Given the description of an element on the screen output the (x, y) to click on. 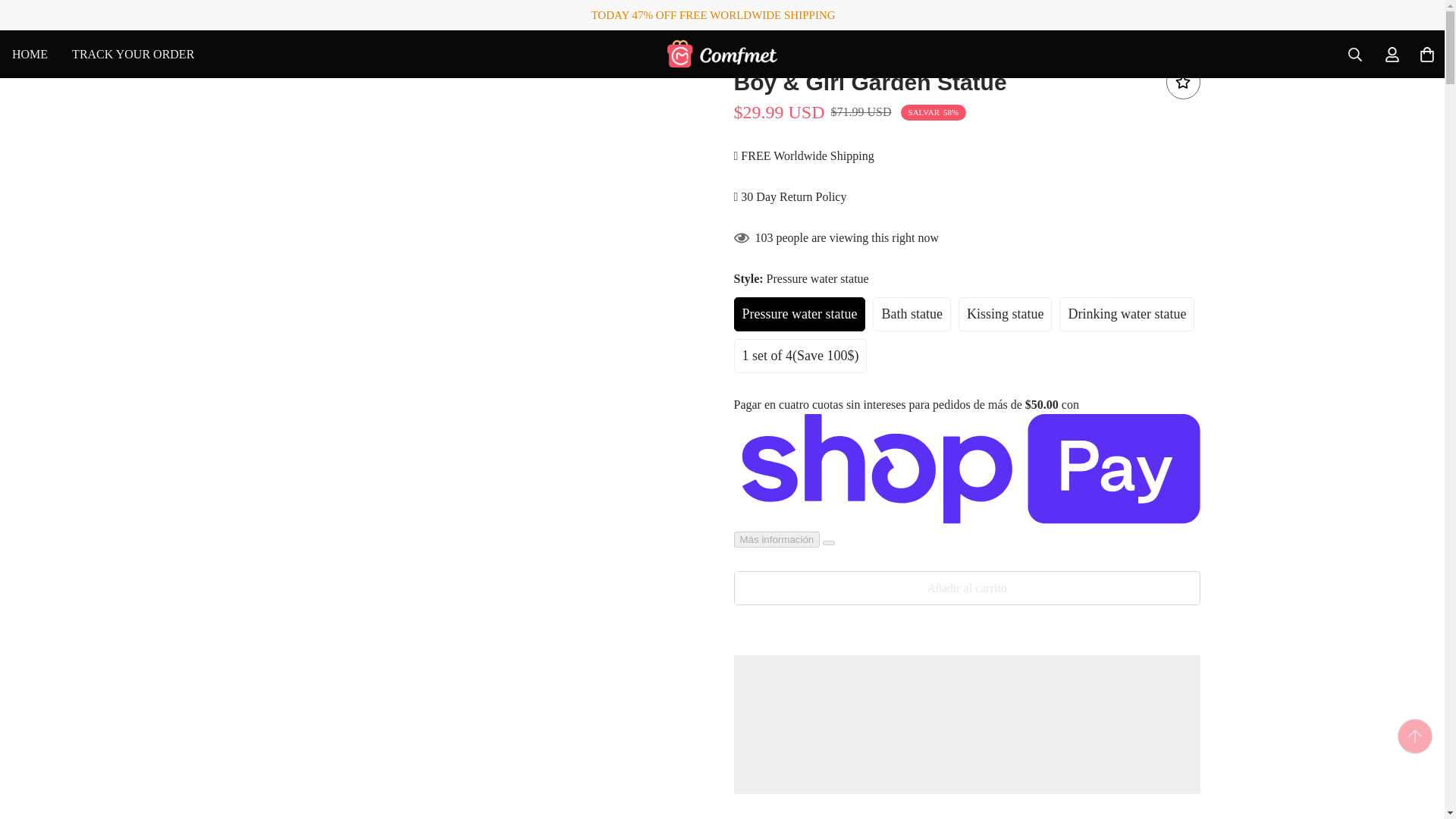
HOME (29, 53)
TRACK YOUR ORDER (132, 53)
Kissing statue (301, 53)
